Given the description of an element on the screen output the (x, y) to click on. 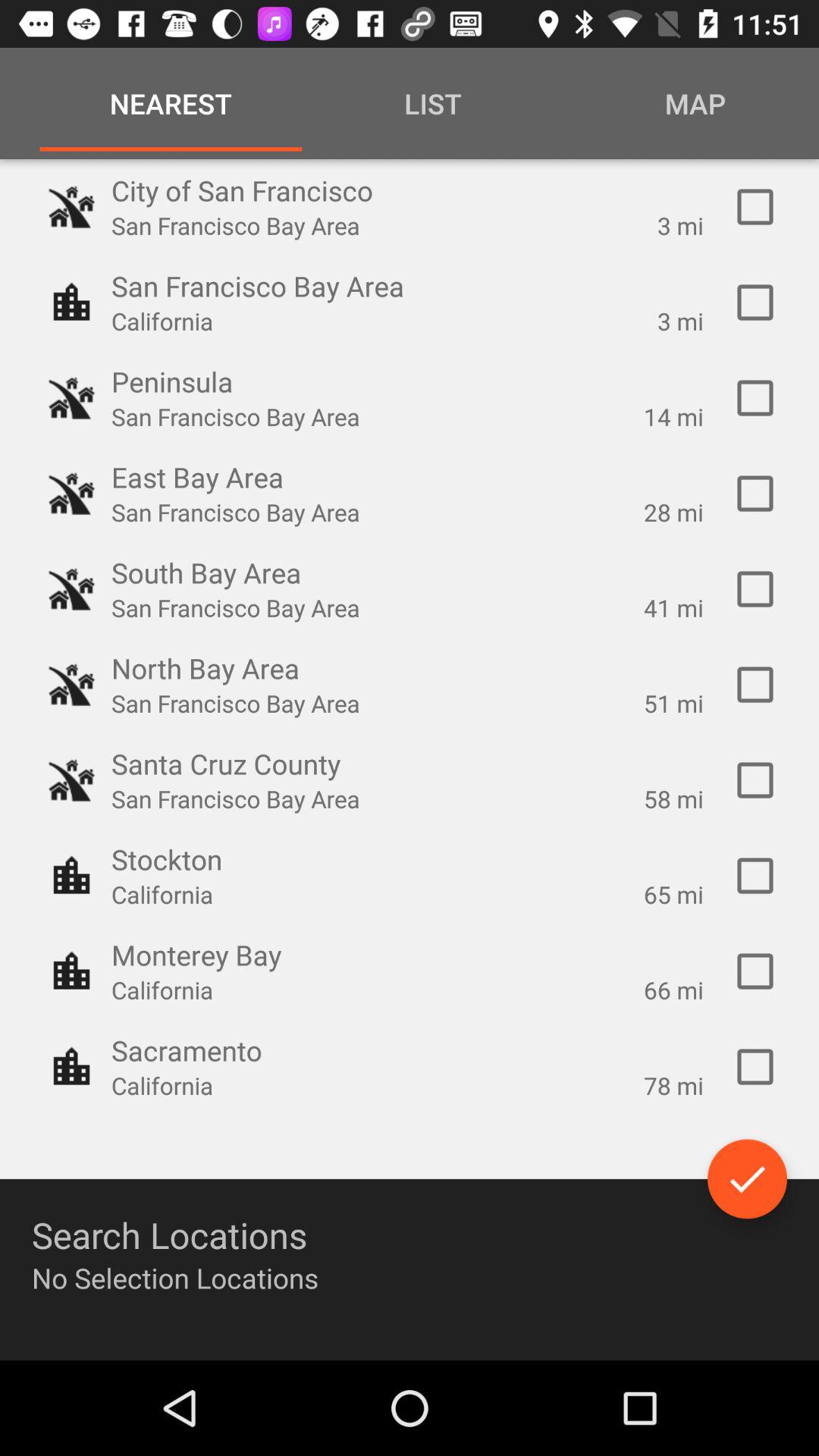
select the city (755, 971)
